Given the description of an element on the screen output the (x, y) to click on. 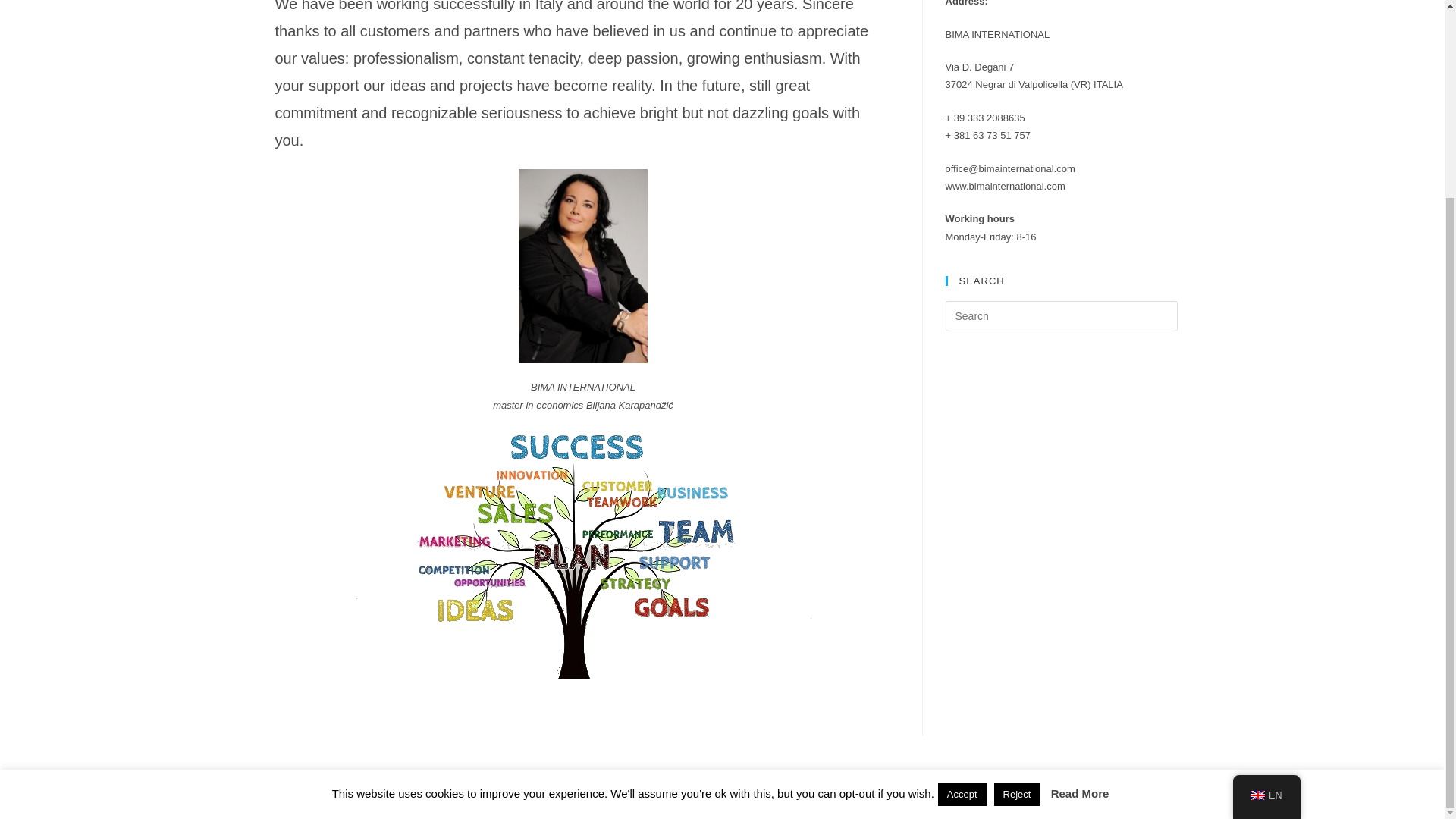
Read More (1080, 543)
English (1257, 544)
EN (1266, 545)
Reject (1017, 544)
Accept (962, 544)
